Given the description of an element on the screen output the (x, y) to click on. 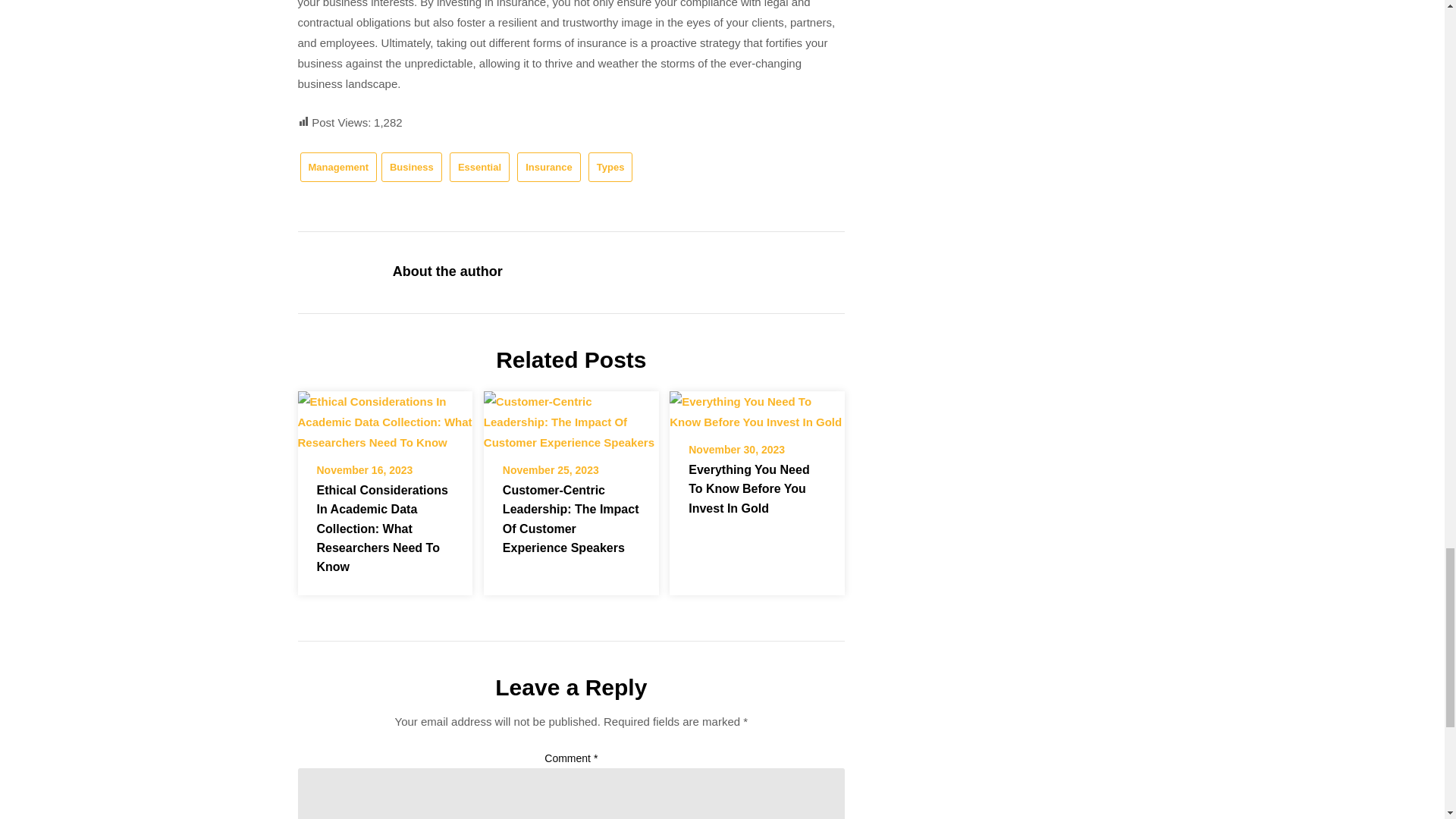
Business (411, 166)
Everything You Need To Know Before You Invest In Gold (756, 411)
Management (338, 166)
Everything You Need To Know Before You Invest In Gold (748, 488)
Everything You Need To Know Before You Invest In Gold (756, 406)
Essential (479, 166)
